Given the description of an element on the screen output the (x, y) to click on. 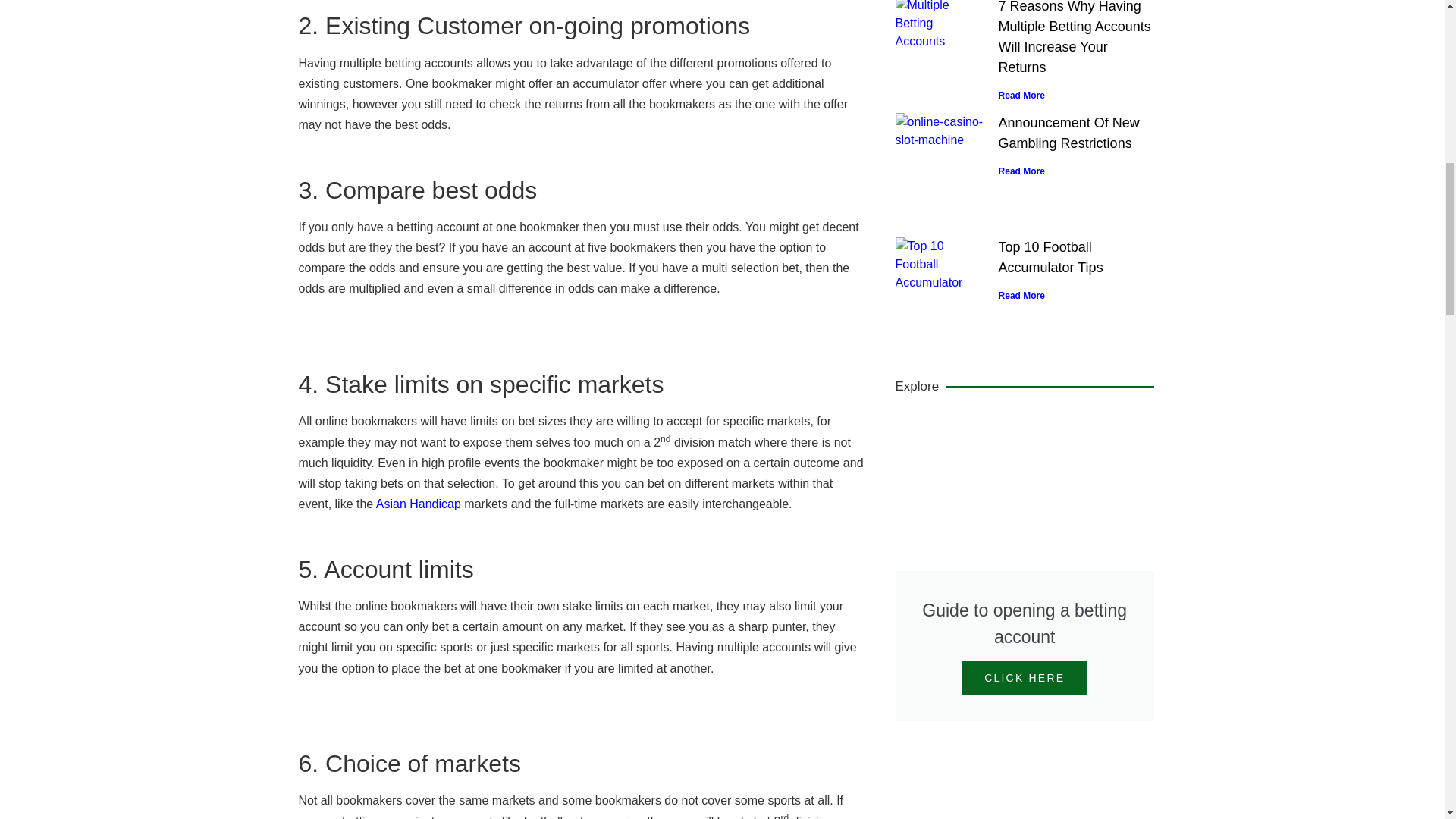
Asian Handicap (418, 503)
